Given the description of an element on the screen output the (x, y) to click on. 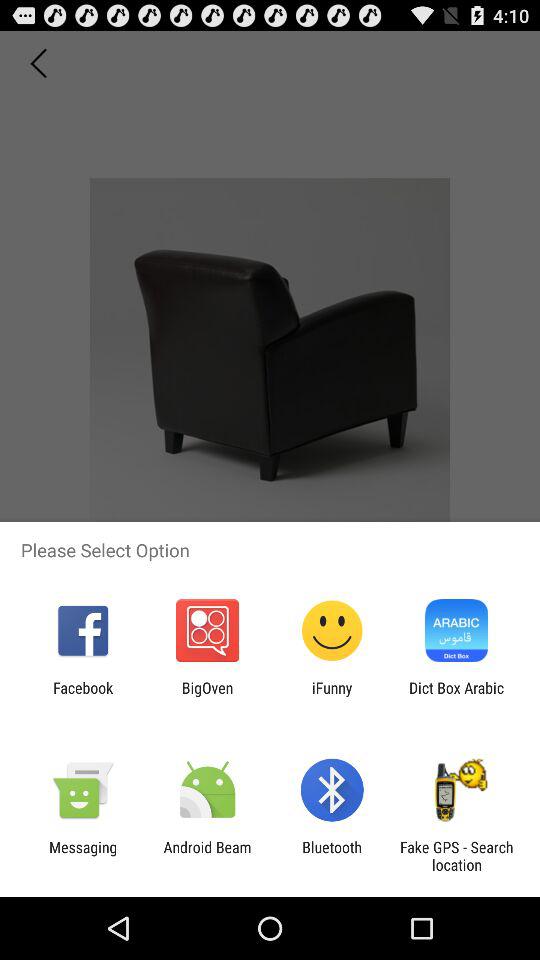
swipe to the ifunny (332, 696)
